Given the description of an element on the screen output the (x, y) to click on. 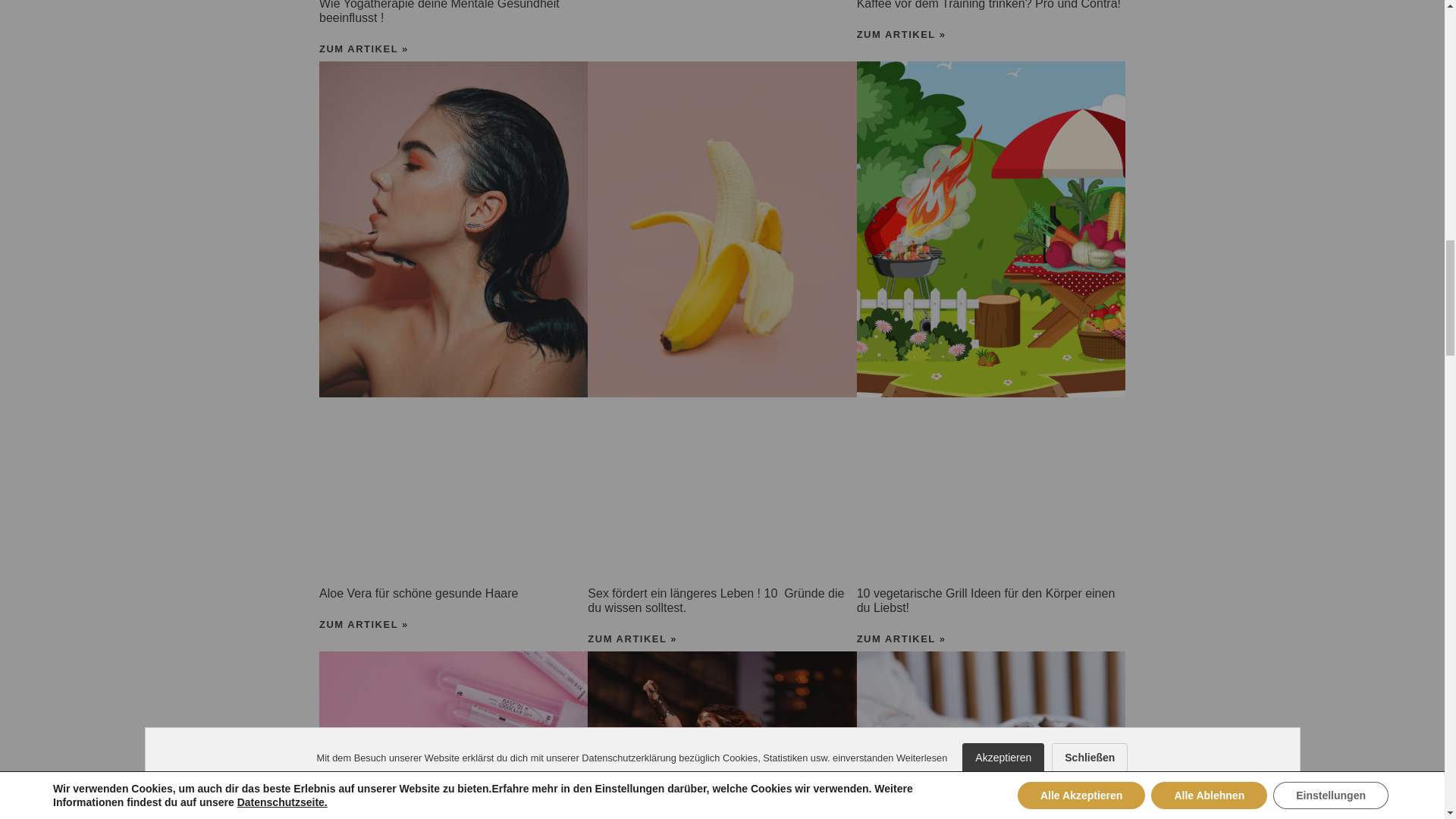
Wie Yogatherapie deine Mentale Gesundheit beeinflusst !  (438, 12)
Kaffee vor dem Training trinken? Pro und Contra! (989, 4)
